Given the description of an element on the screen output the (x, y) to click on. 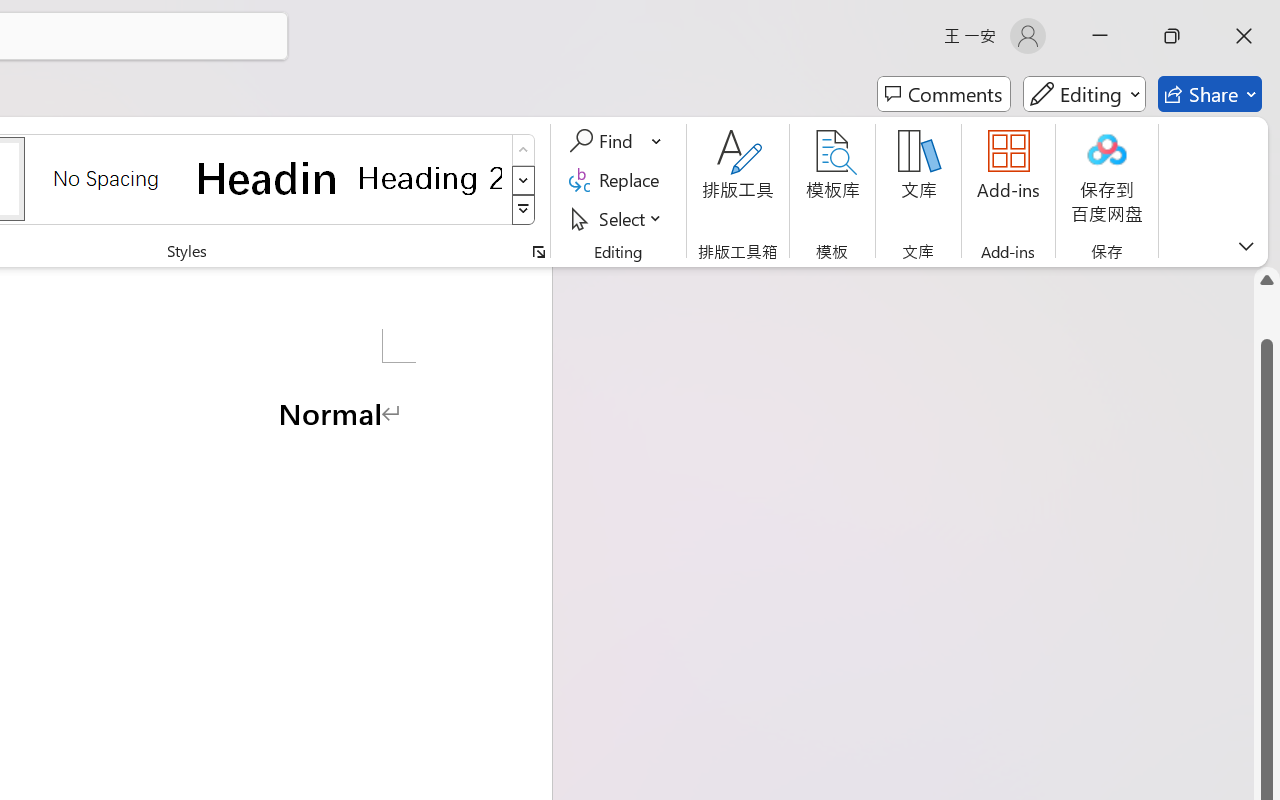
Select (618, 218)
Row up (523, 150)
Styles (523, 209)
Replace... (617, 179)
Mode (1083, 94)
Styles... (538, 252)
